Given the description of an element on the screen output the (x, y) to click on. 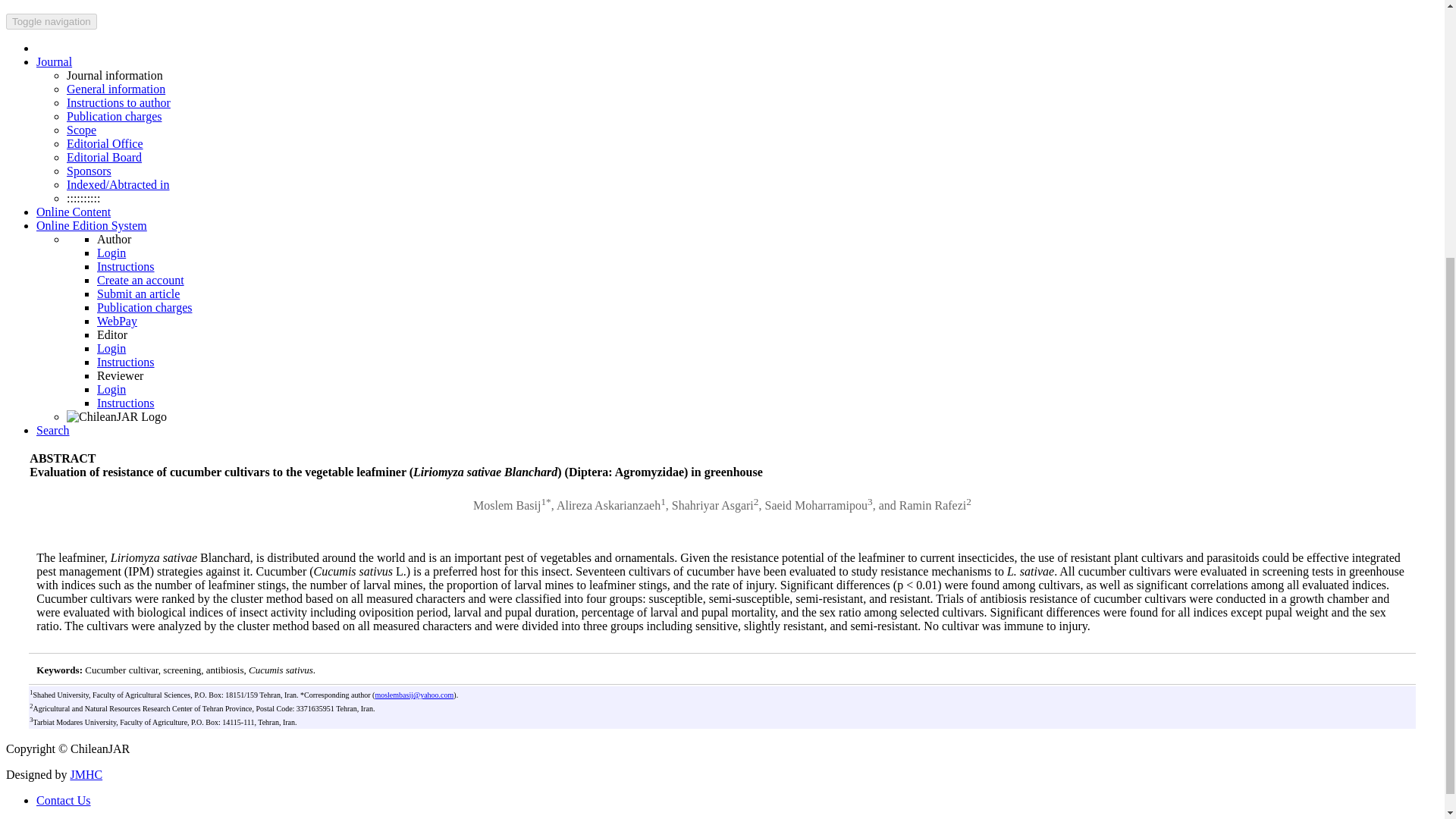
Scope (81, 129)
Editorial Board (103, 156)
Journal (53, 61)
Login (111, 252)
Contact Us (63, 799)
Instructions (125, 266)
Publication charges (144, 307)
Submit an article (138, 293)
Instructions (125, 361)
Sponsors (89, 170)
Contact Us (69, 0)
JMHC (85, 774)
Instructions (125, 402)
Login (111, 389)
Online Content (73, 211)
